Given the description of an element on the screen output the (x, y) to click on. 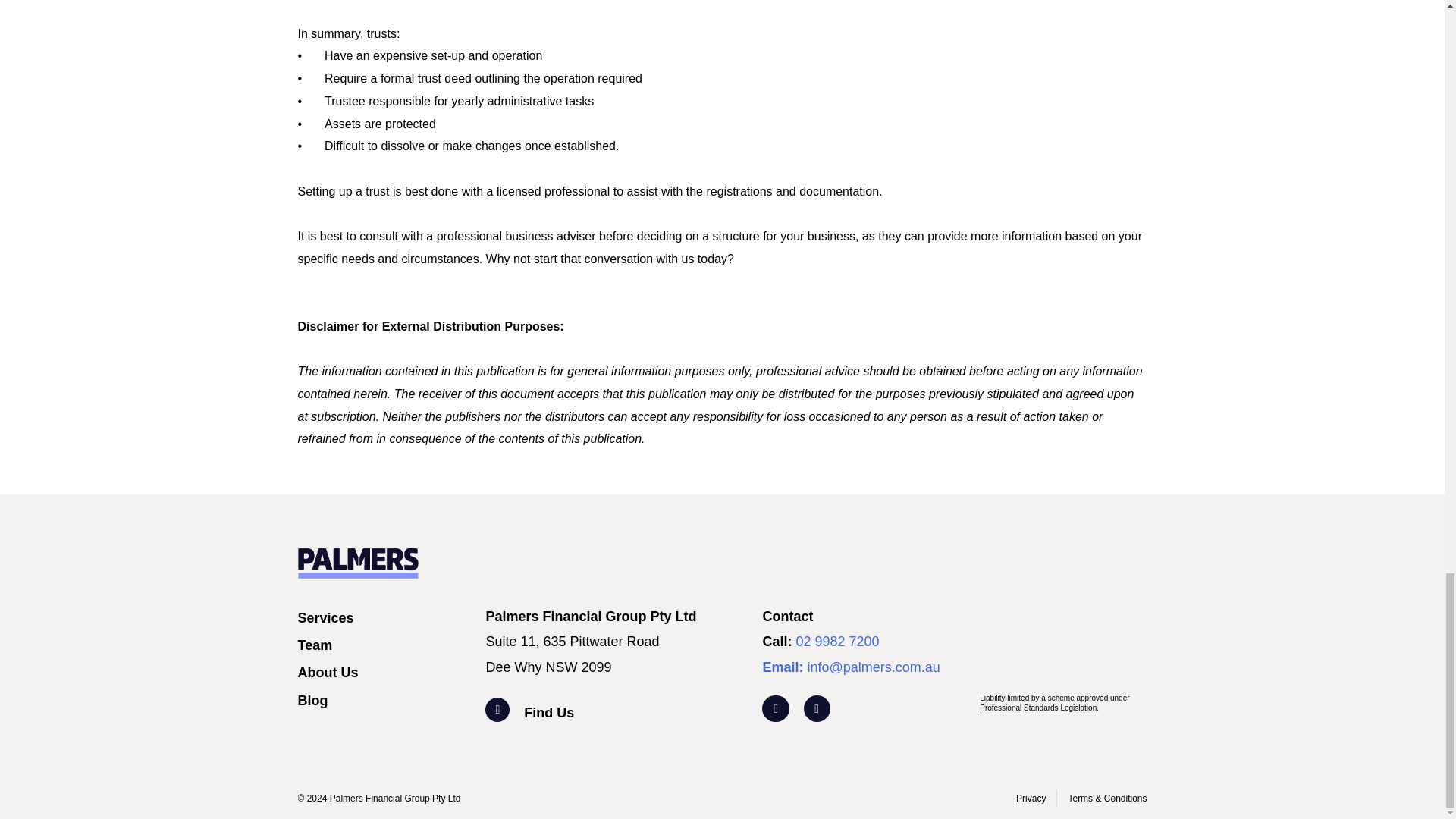
02 9982 7200 (836, 641)
About Us (383, 672)
Blog (383, 700)
Map-marker-alt (496, 709)
Find Us (635, 713)
Team (383, 645)
Services (383, 618)
